Given the description of an element on the screen output the (x, y) to click on. 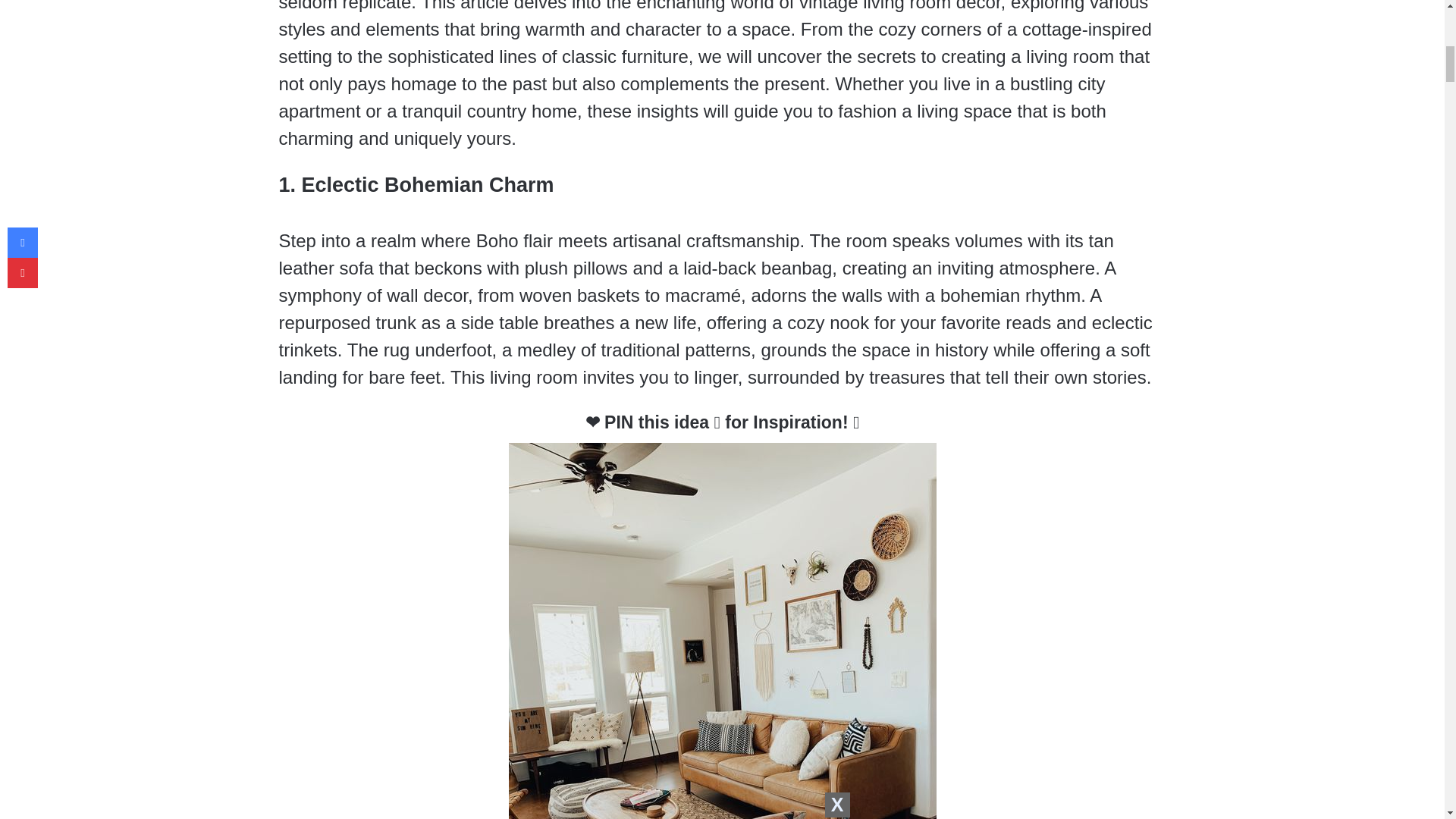
Back to top button (1413, 60)
